Given the description of an element on the screen output the (x, y) to click on. 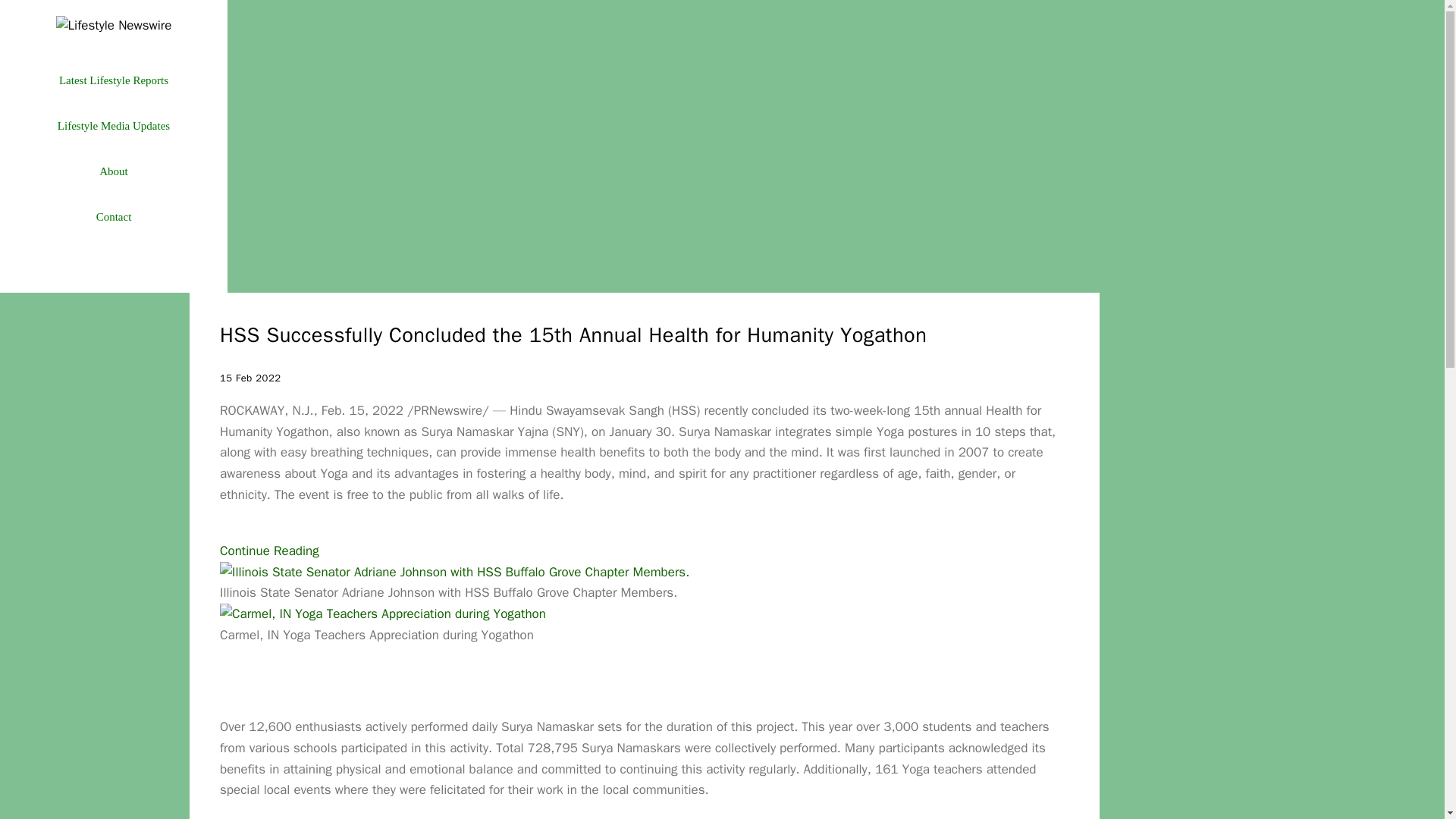
Contact (113, 216)
Carmel, IN Yoga Teachers Appreciation during Yogathon (382, 613)
Continue Reading (268, 550)
About (113, 171)
Latest Lifestyle Reports (113, 80)
Lifestyle Media Updates (113, 125)
Continue Reading (268, 550)
